Given the description of an element on the screen output the (x, y) to click on. 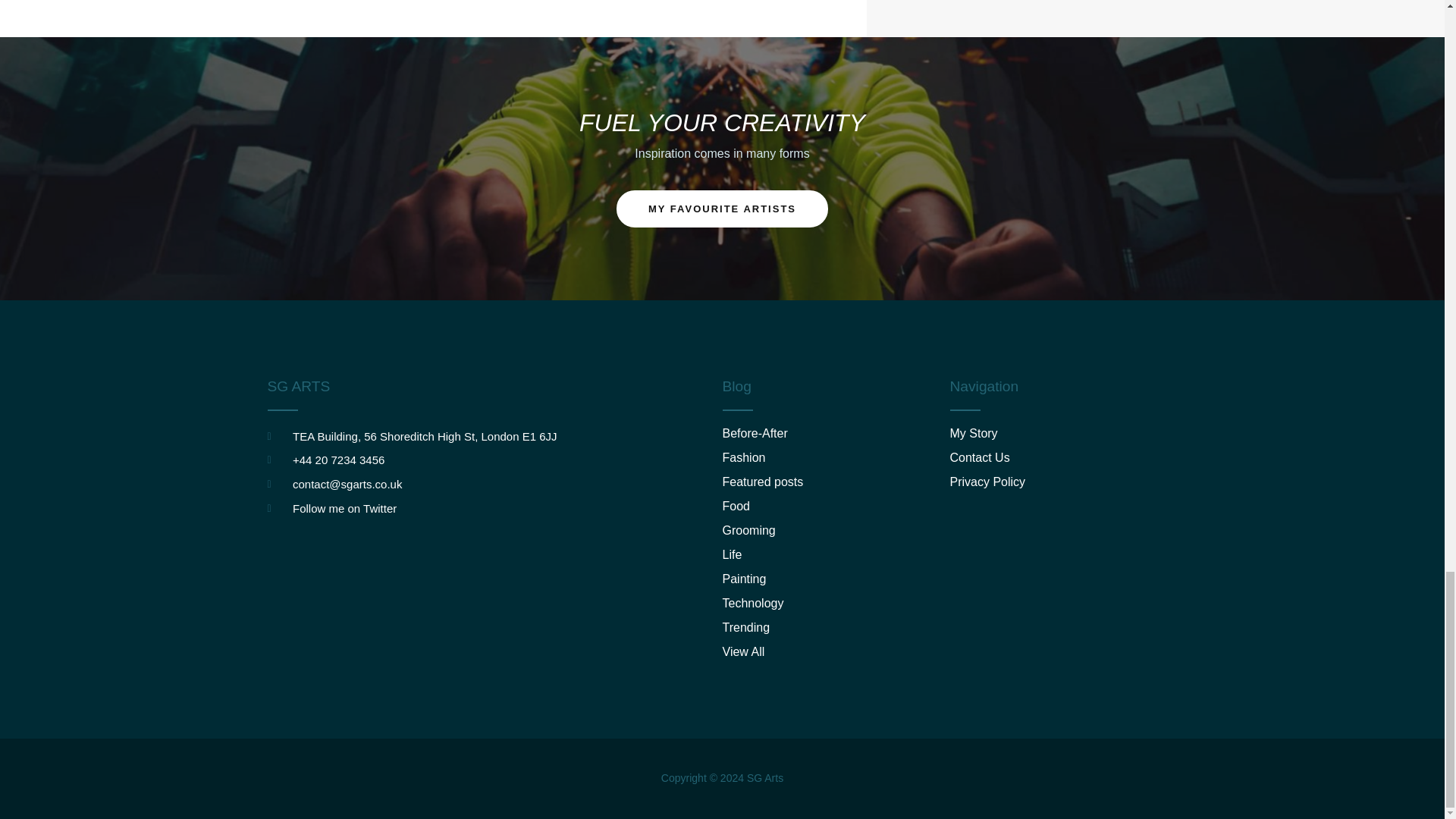
Fashion (835, 458)
Life (835, 554)
Follow me on Twitter (494, 508)
Food (835, 506)
Grooming (835, 530)
Featured posts (835, 482)
Painting (835, 579)
View All (835, 652)
Trending (835, 627)
Technology (835, 603)
